Given the description of an element on the screen output the (x, y) to click on. 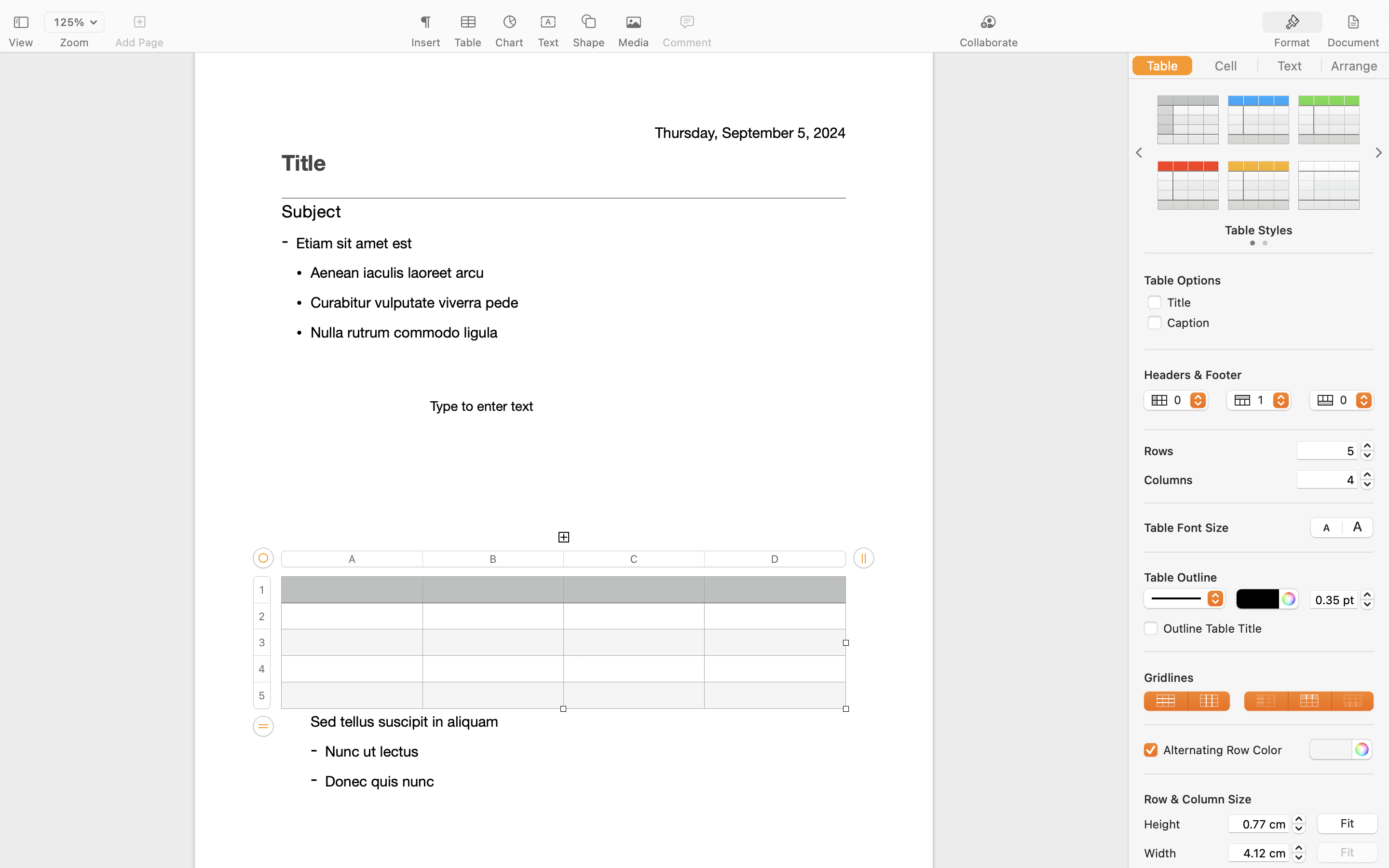
4 Element type: AXTextField (1327, 478)
Table Font Size Element type: AXStaticText (1186, 526)
Document Element type: AXStaticText (1352, 42)
Width Element type: AXStaticText (1183, 852)
Media Element type: AXStaticText (633, 42)
